Given the description of an element on the screen output the (x, y) to click on. 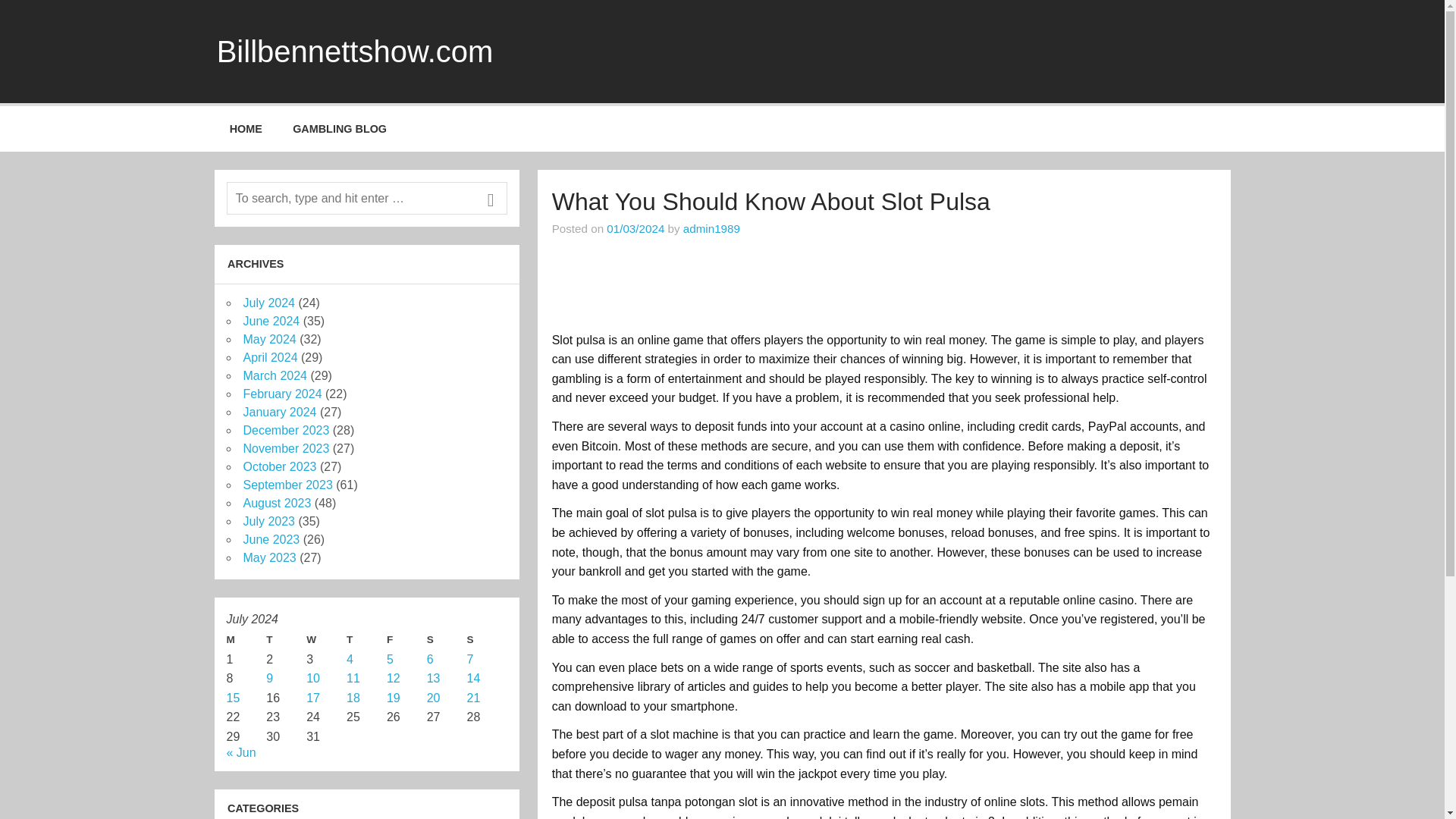
June 2024 (271, 320)
September 2023 (287, 484)
13 (433, 677)
May 2023 (269, 557)
20 (433, 697)
10 (312, 677)
April 2024 (270, 357)
15 (232, 697)
Wednesday (325, 639)
November 2023 (286, 448)
January 2024 (279, 411)
GAMBLING BLOG (339, 128)
December 2023 (286, 430)
May 2024 (269, 338)
18 (352, 697)
